Given the description of an element on the screen output the (x, y) to click on. 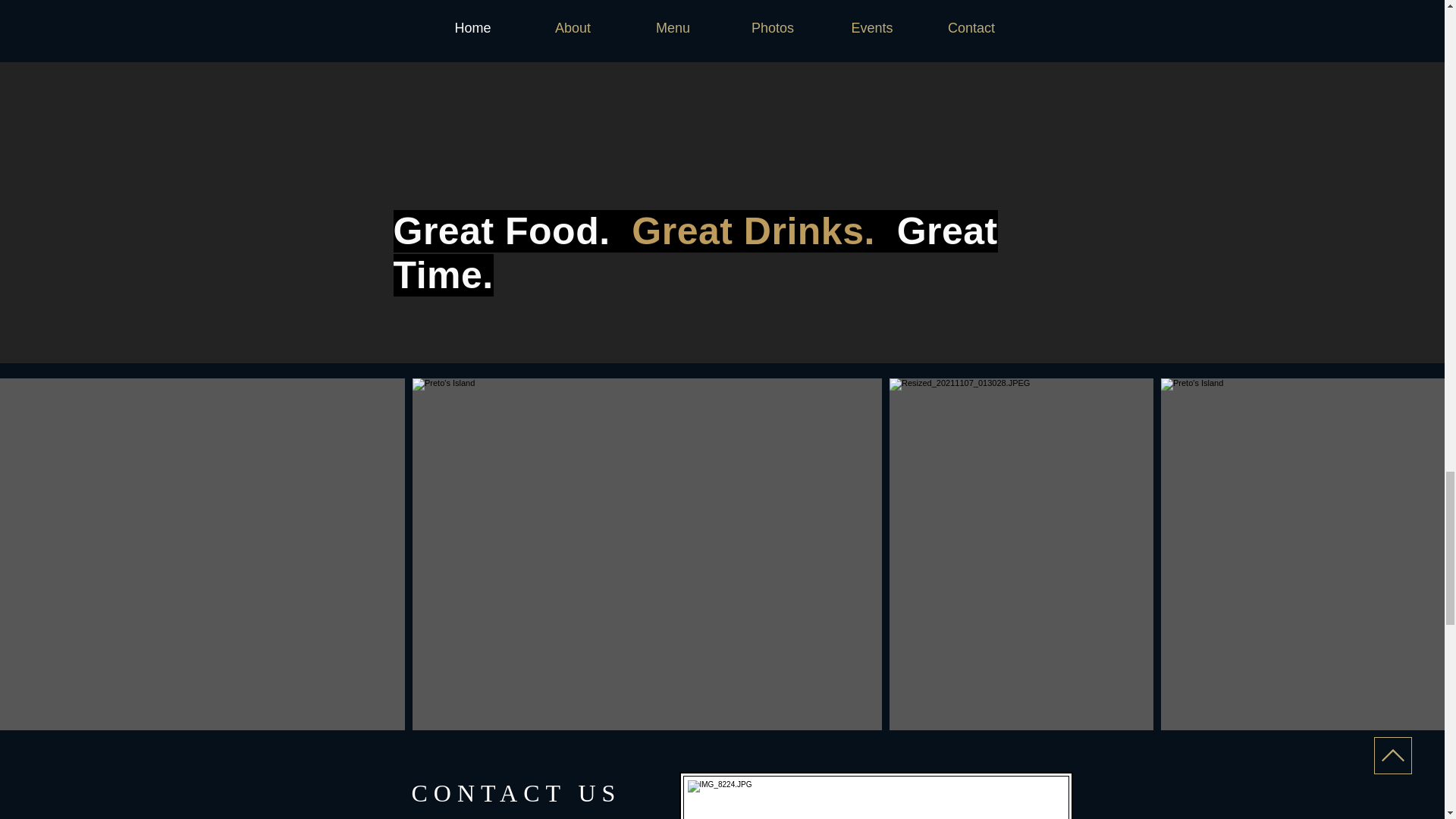
LIVE ENTERTAINMENT (872, 38)
